Given the description of an element on the screen output the (x, y) to click on. 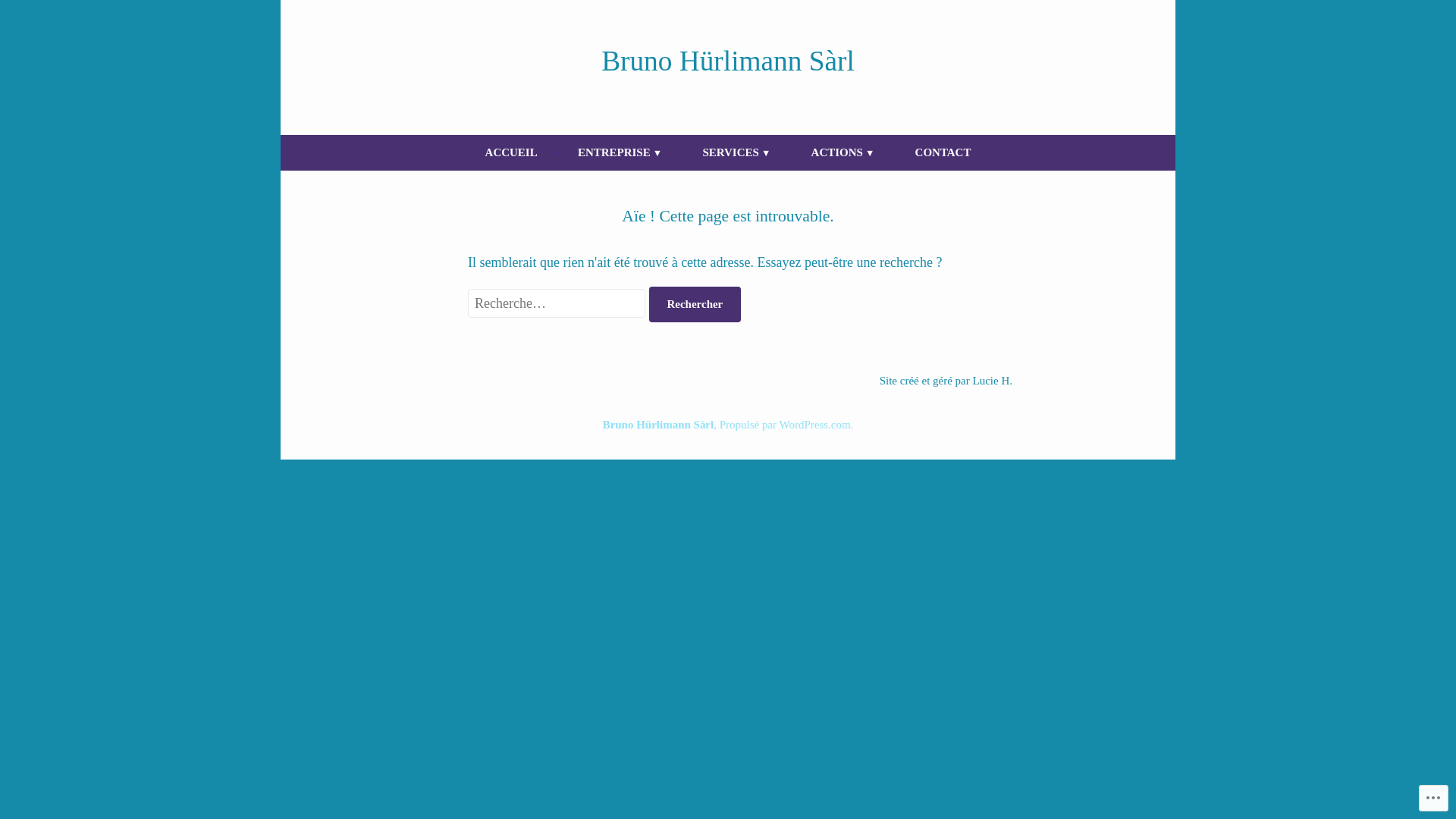
ENTREPRISE Element type: text (619, 152)
ACCUEIL Element type: text (511, 152)
Rechercher Element type: text (695, 304)
ACTIONS Element type: text (843, 152)
SERVICES Element type: text (736, 152)
CONTACT Element type: text (943, 152)
